Given the description of an element on the screen output the (x, y) to click on. 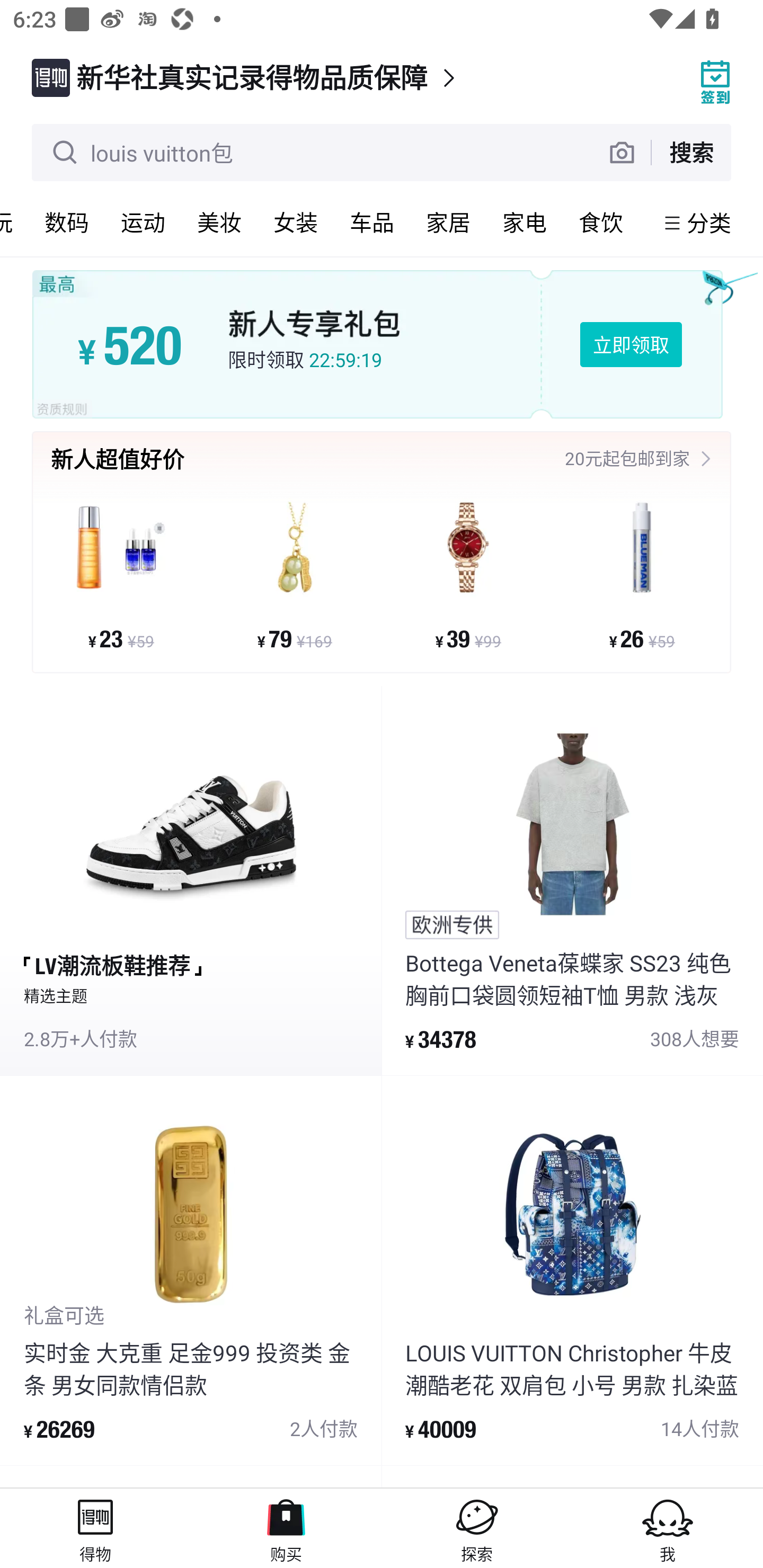
搜索 (690, 152)
数码 (66, 222)
运动 (143, 222)
美妆 (219, 222)
女装 (295, 222)
车品 (372, 222)
家居 (448, 222)
家电 (524, 222)
食饮 (601, 222)
分类 (708, 222)
立即领取 (630, 343)
¥ 23 ¥59 (121, 574)
¥ 79 ¥169 (294, 574)
¥ 39 ¥99 (468, 574)
¥ 26 ¥59 (641, 574)
LV潮流板鞋推荐 精选主题 2.8万+人付款 (190, 880)
得物 (95, 1528)
购买 (285, 1528)
探索 (476, 1528)
我 (667, 1528)
